Given the description of an element on the screen output the (x, y) to click on. 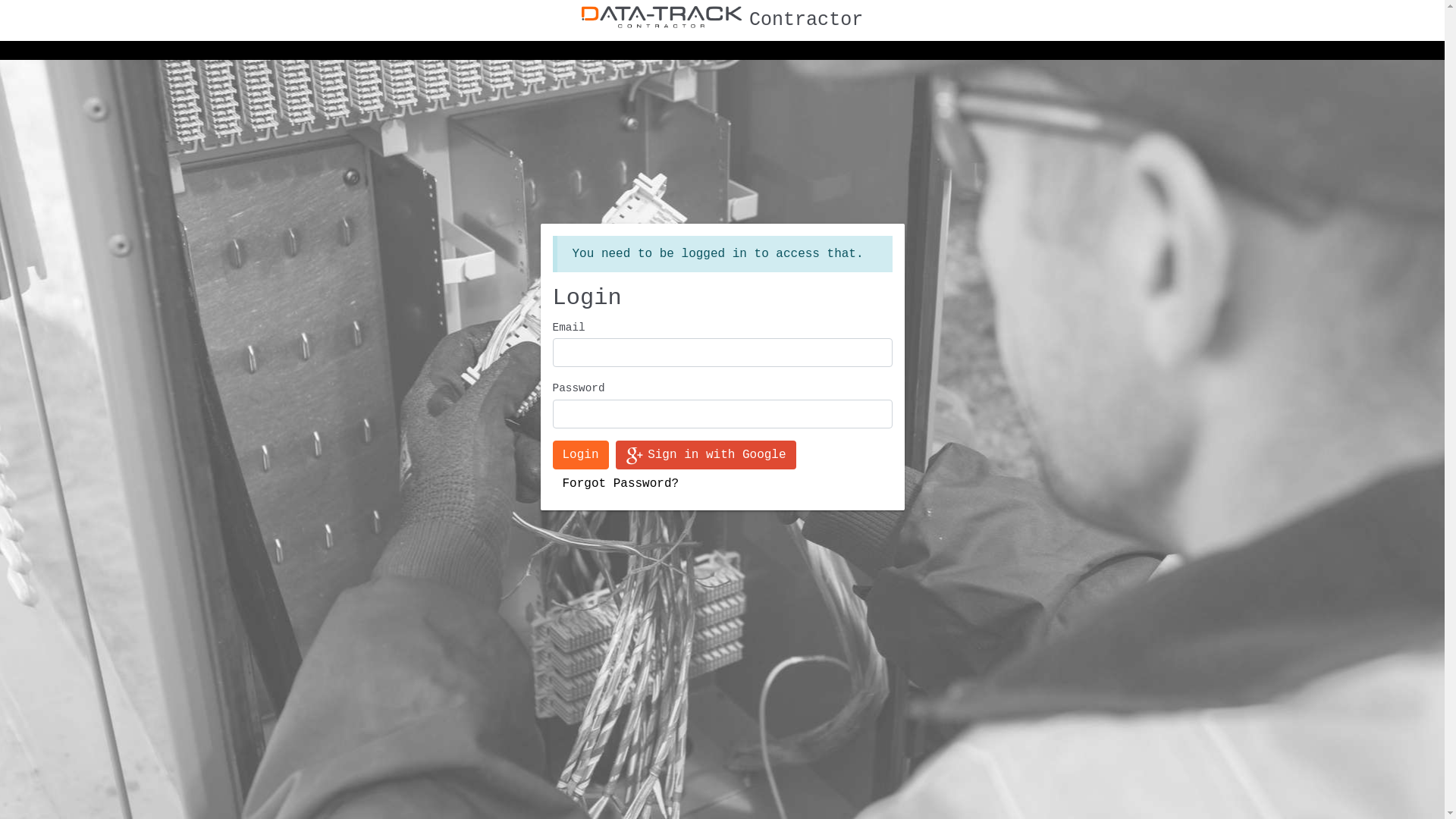
Sign in with Google Element type: text (705, 454)
You need to be logged in to access that. Element type: text (721, 253)
Login Element type: text (580, 454)
Forgot Password? Element type: text (620, 483)
Contractor Element type: text (721, 20)
